Given the description of an element on the screen output the (x, y) to click on. 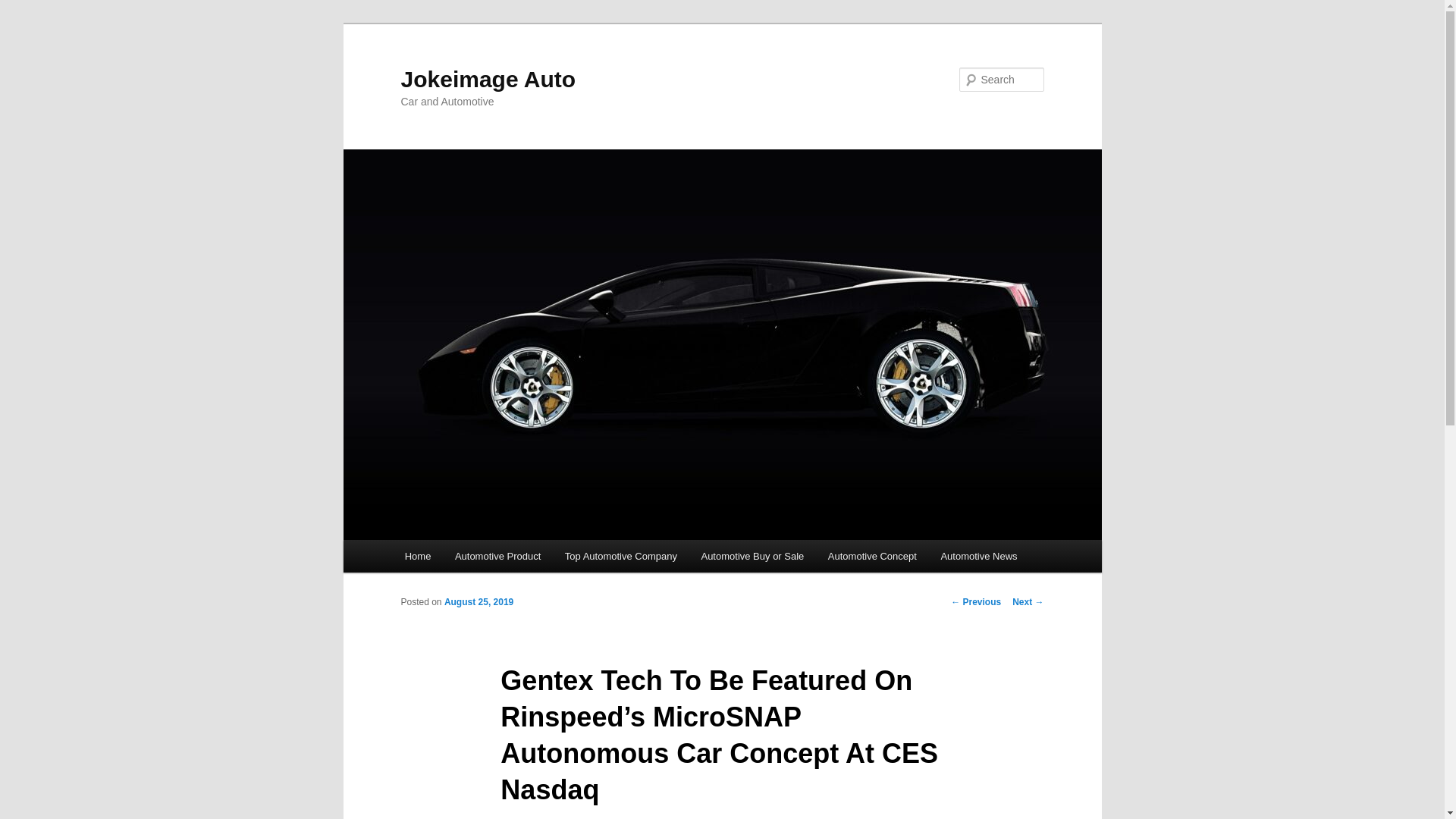
Top Automotive Company (620, 555)
3:34 am (478, 602)
Search (24, 8)
Automotive Concept (871, 555)
Home (417, 555)
Automotive Buy or Sale (751, 555)
Jokeimage Auto (487, 78)
August 25, 2019 (478, 602)
Automotive Product (497, 555)
Automotive News (978, 555)
